Given the description of an element on the screen output the (x, y) to click on. 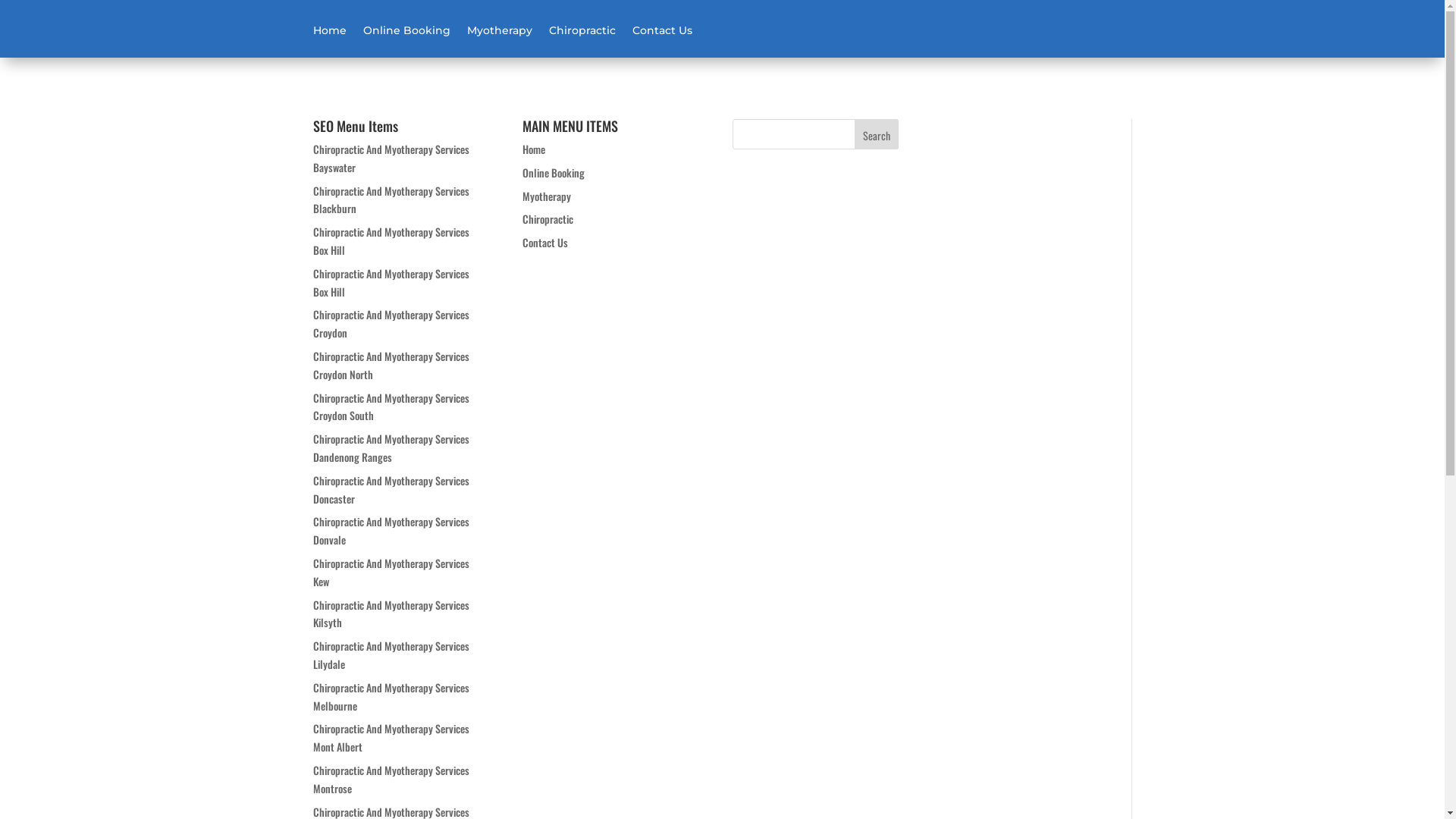
Home Element type: text (533, 148)
Chiropractic And Myotherapy Services Donvale Element type: text (390, 530)
Myotherapy Element type: text (546, 195)
Online Booking Element type: text (553, 172)
Chiropractic And Myotherapy Services Melbourne Element type: text (390, 696)
Chiropractic And Myotherapy Services Blackburn Element type: text (390, 199)
Chiropractic And Myotherapy Services Dandenong Ranges Element type: text (390, 447)
Chiropractic And Myotherapy Services Croydon Element type: text (390, 323)
Myotherapy Element type: text (499, 41)
Search Element type: text (876, 134)
Chiropractic And Myotherapy Services Kew Element type: text (390, 572)
Chiropractic And Myotherapy Services Montrose Element type: text (390, 779)
Chiropractic And Myotherapy Services Box Hill Element type: text (390, 282)
Chiropractic And Myotherapy Services Bayswater Element type: text (390, 158)
Chiropractic And Myotherapy Services Doncaster Element type: text (390, 489)
Chiropractic And Myotherapy Services Lilydale Element type: text (390, 654)
Contact Us Element type: text (544, 242)
Home Element type: text (328, 41)
Chiropractic And Myotherapy Services Box Hill Element type: text (390, 240)
Contact Us Element type: text (662, 41)
Chiropractic And Myotherapy Services Kilsyth Element type: text (390, 613)
Chiropractic Element type: text (582, 41)
Chiropractic And Myotherapy Services Croydon South Element type: text (390, 406)
Chiropractic And Myotherapy Services Mont Albert Element type: text (390, 737)
Chiropractic Element type: text (547, 218)
Chiropractic And Myotherapy Services Croydon North Element type: text (390, 365)
Online Booking Element type: text (405, 41)
